Given the description of an element on the screen output the (x, y) to click on. 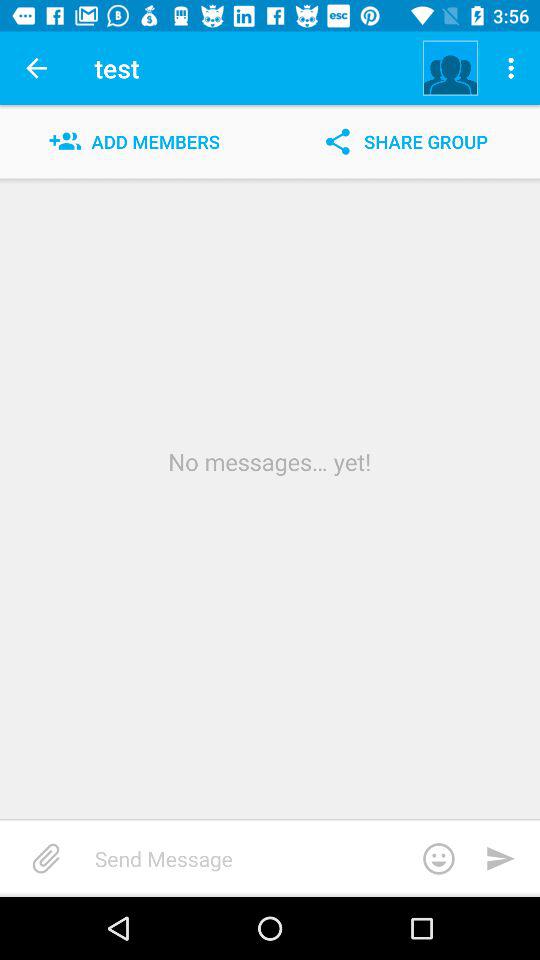
launch item at the bottom left corner (45, 858)
